Given the description of an element on the screen output the (x, y) to click on. 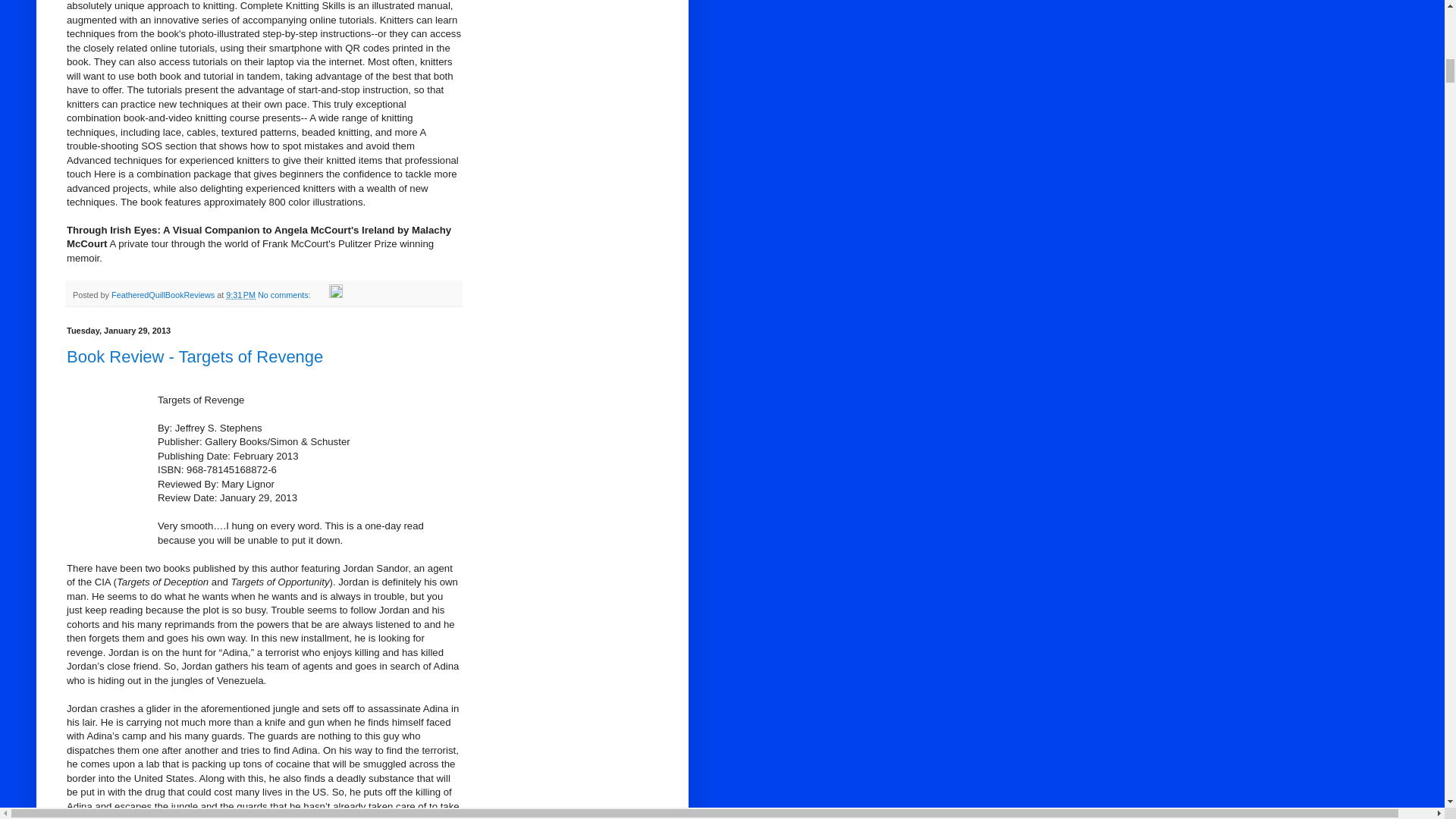
author profile (164, 294)
No comments: (285, 294)
FeatheredQuillBookReviews (164, 294)
Email Post (321, 294)
permanent link (240, 294)
Book Review - Targets of Revenge (194, 356)
Edit Post (335, 294)
